Given the description of an element on the screen output the (x, y) to click on. 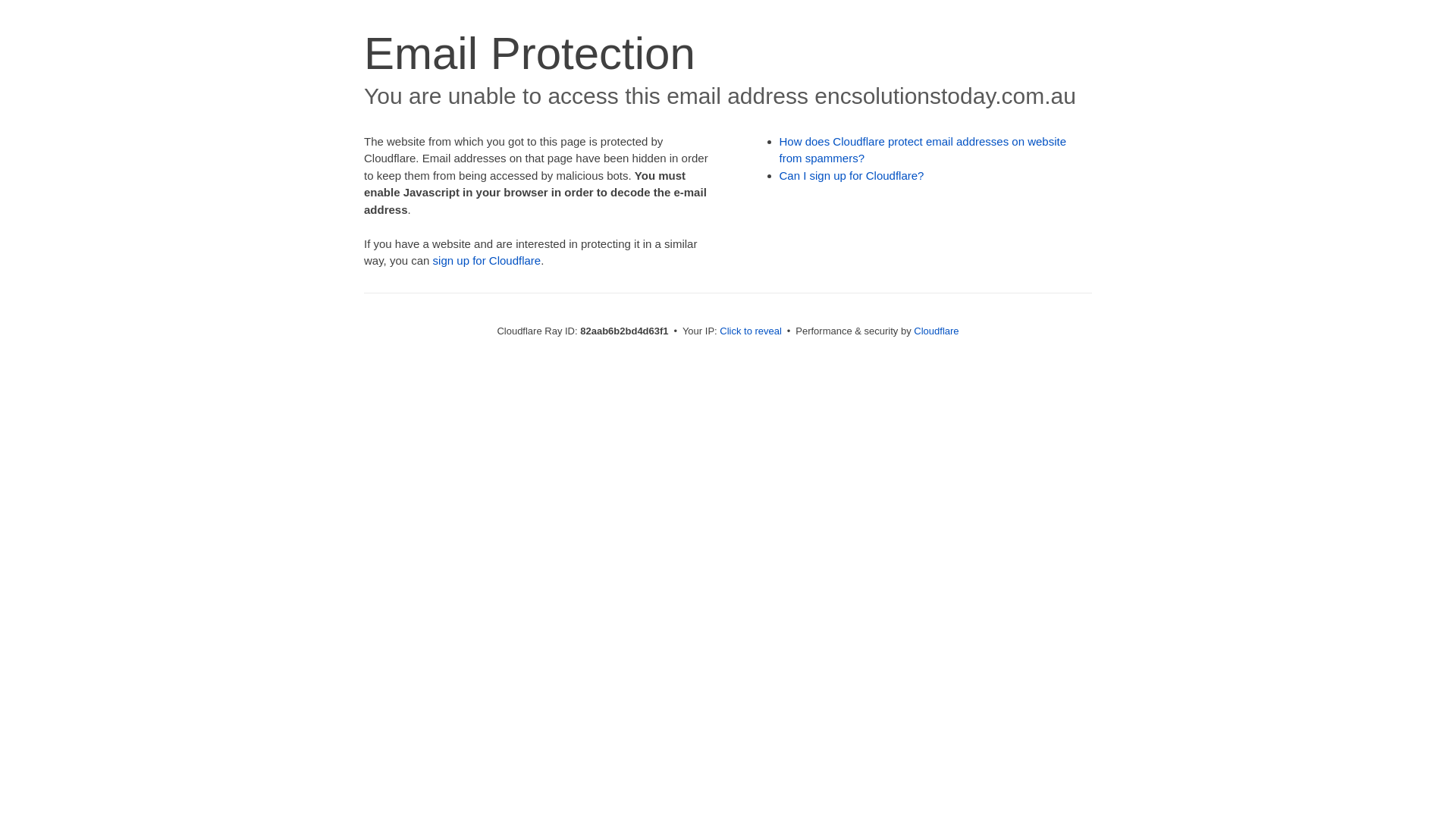
Cloudflare Element type: text (935, 330)
sign up for Cloudflare Element type: text (487, 260)
Can I sign up for Cloudflare? Element type: text (851, 175)
Click to reveal Element type: text (750, 330)
